Given the description of an element on the screen output the (x, y) to click on. 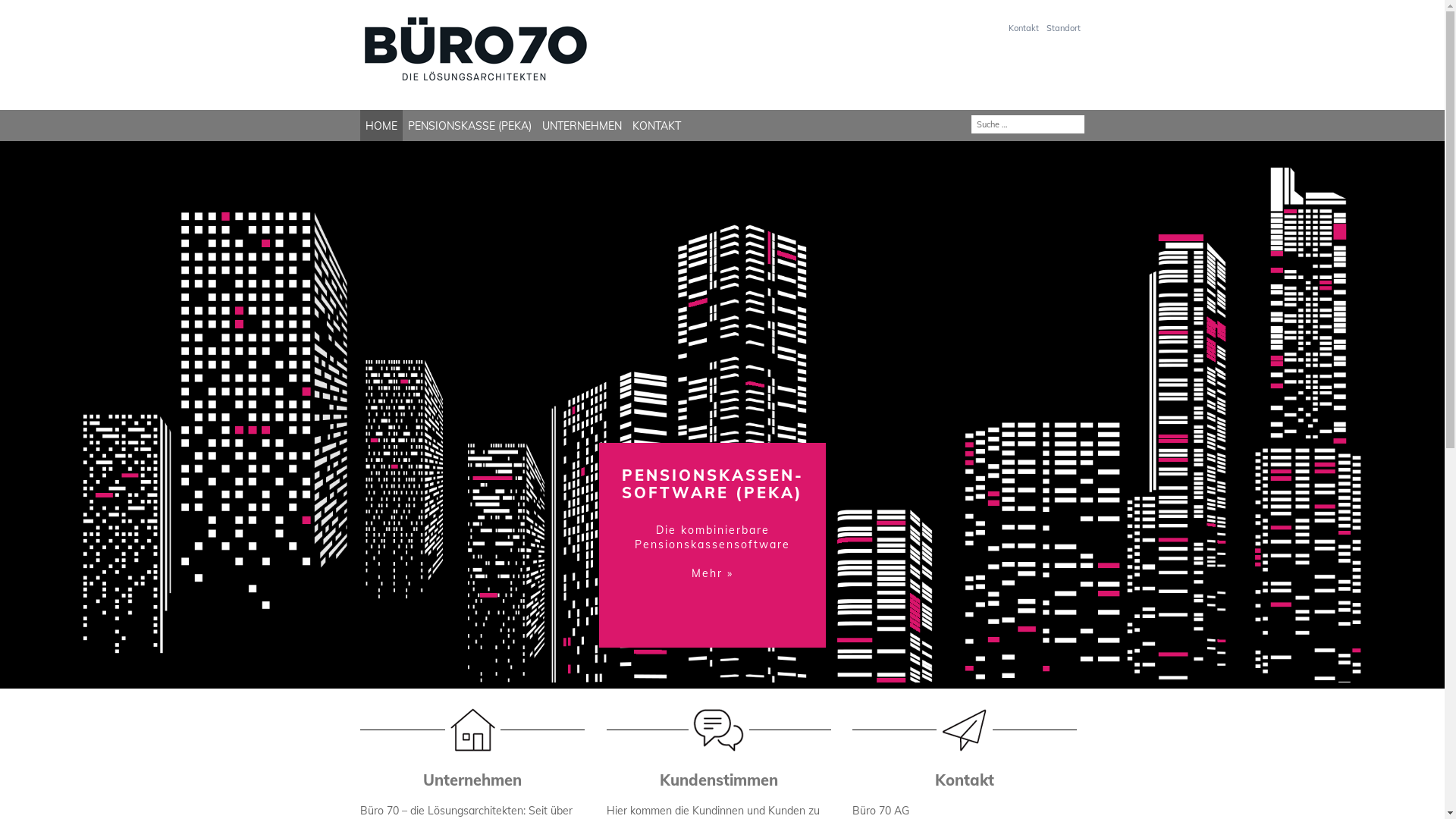
Kontakt Element type: text (1023, 27)
Kontakt Element type: text (964, 779)
Kundenstimmen Element type: text (718, 779)
Standort Element type: text (1063, 27)
Suche Element type: text (20, 7)
KONTAKT Element type: text (656, 125)
Unternehmen Element type: text (472, 779)
UNTERNEHMEN Element type: text (581, 125)
HOME Element type: text (381, 125)
PENSIONSKASSE (PEKA) Element type: text (469, 125)
